Given the description of an element on the screen output the (x, y) to click on. 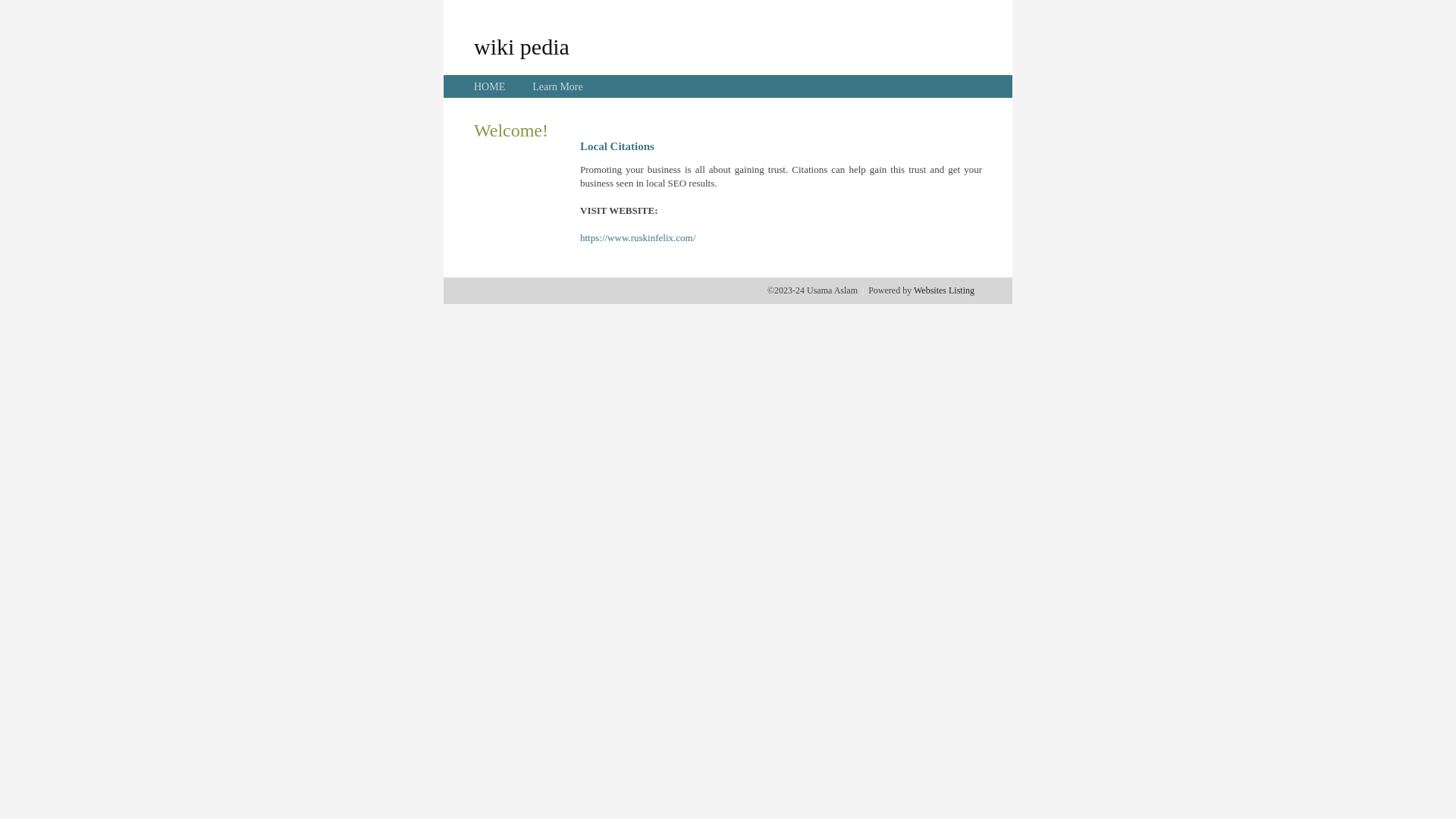
Learn More Element type: text (557, 86)
HOME Element type: text (489, 86)
https://www.ruskinfelix.com/ Element type: text (637, 237)
wiki pedia Element type: text (521, 46)
Websites Listing Element type: text (943, 290)
